Given the description of an element on the screen output the (x, y) to click on. 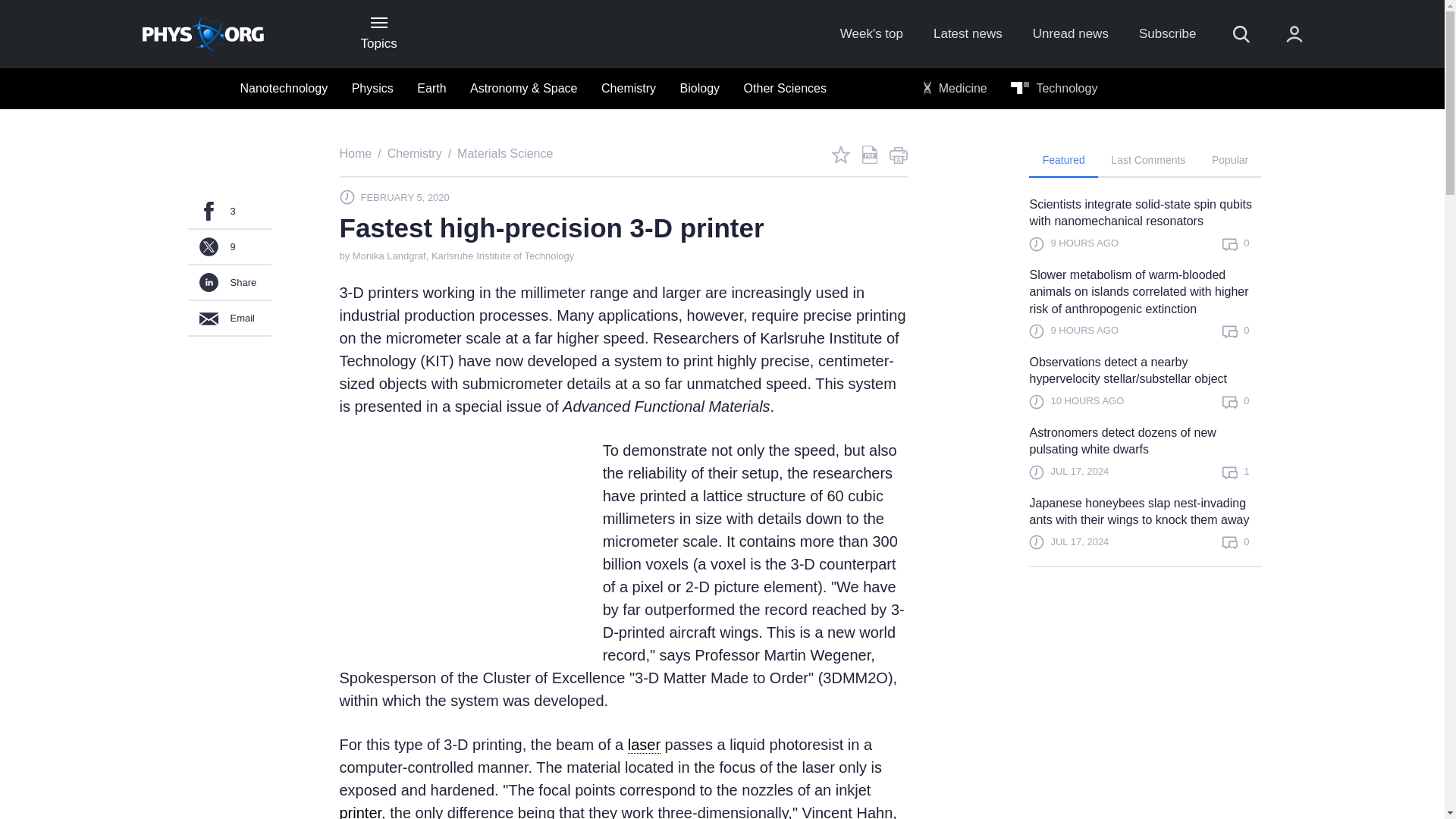
Earth (430, 88)
9 (228, 247)
3 (228, 212)
Home (355, 153)
Share (228, 283)
Subscribe (1167, 34)
Chemistry (414, 153)
Medicine (954, 88)
3rd party ad content (1145, 702)
Week's top (871, 34)
Email (228, 318)
Karlsruhe Institute of Technology (501, 255)
Other Sciences (785, 88)
Physics (372, 88)
Save as pdf file (869, 154)
